Given the description of an element on the screen output the (x, y) to click on. 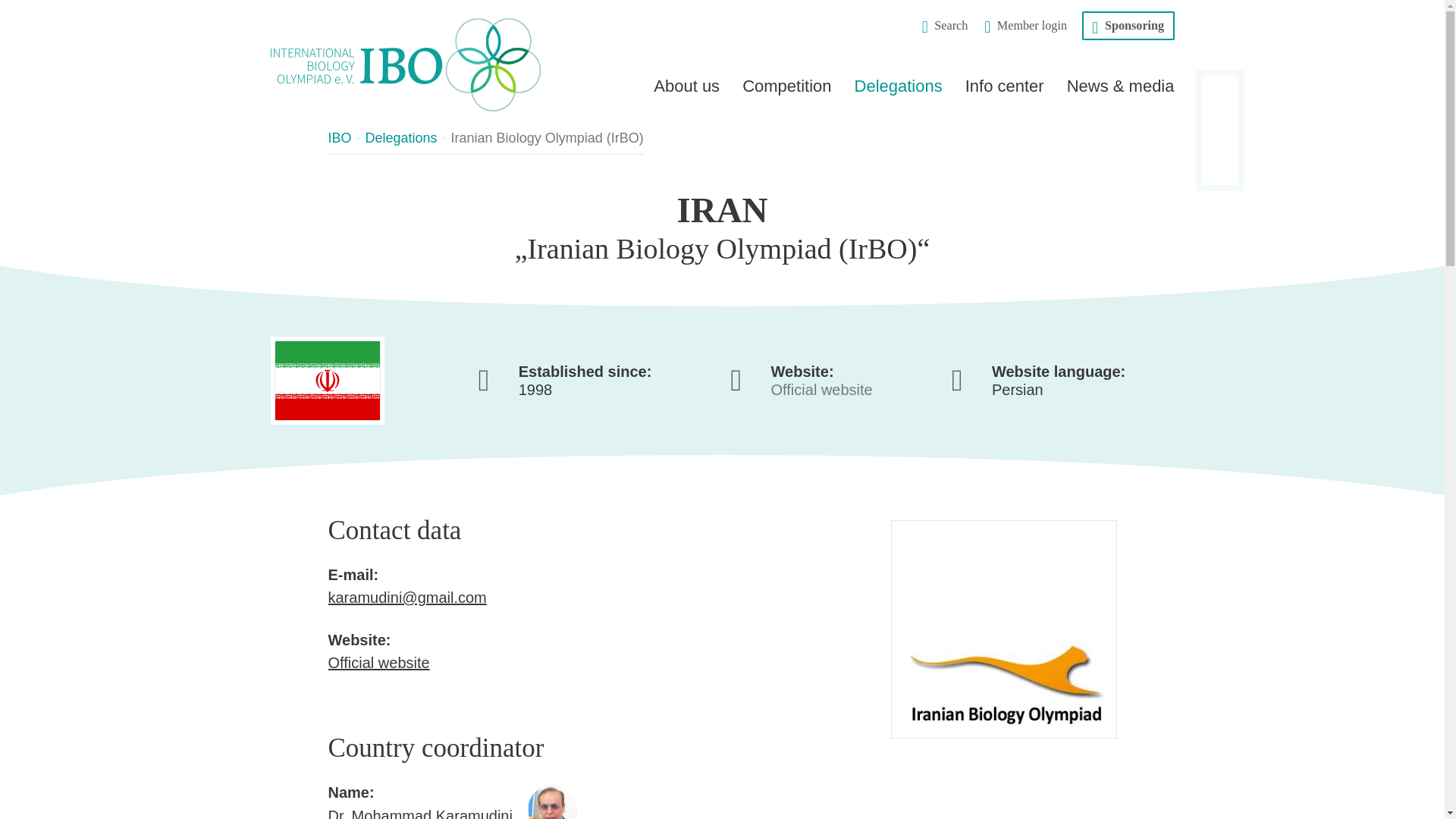
Search this website (944, 25)
Competition (786, 89)
About us (686, 89)
Go to the login for IBO members (1025, 25)
Official website (378, 662)
Search (944, 25)
Official website (821, 389)
Delegations (897, 89)
Become a sponsor of IBO (1127, 25)
Member login (1025, 25)
